Given the description of an element on the screen output the (x, y) to click on. 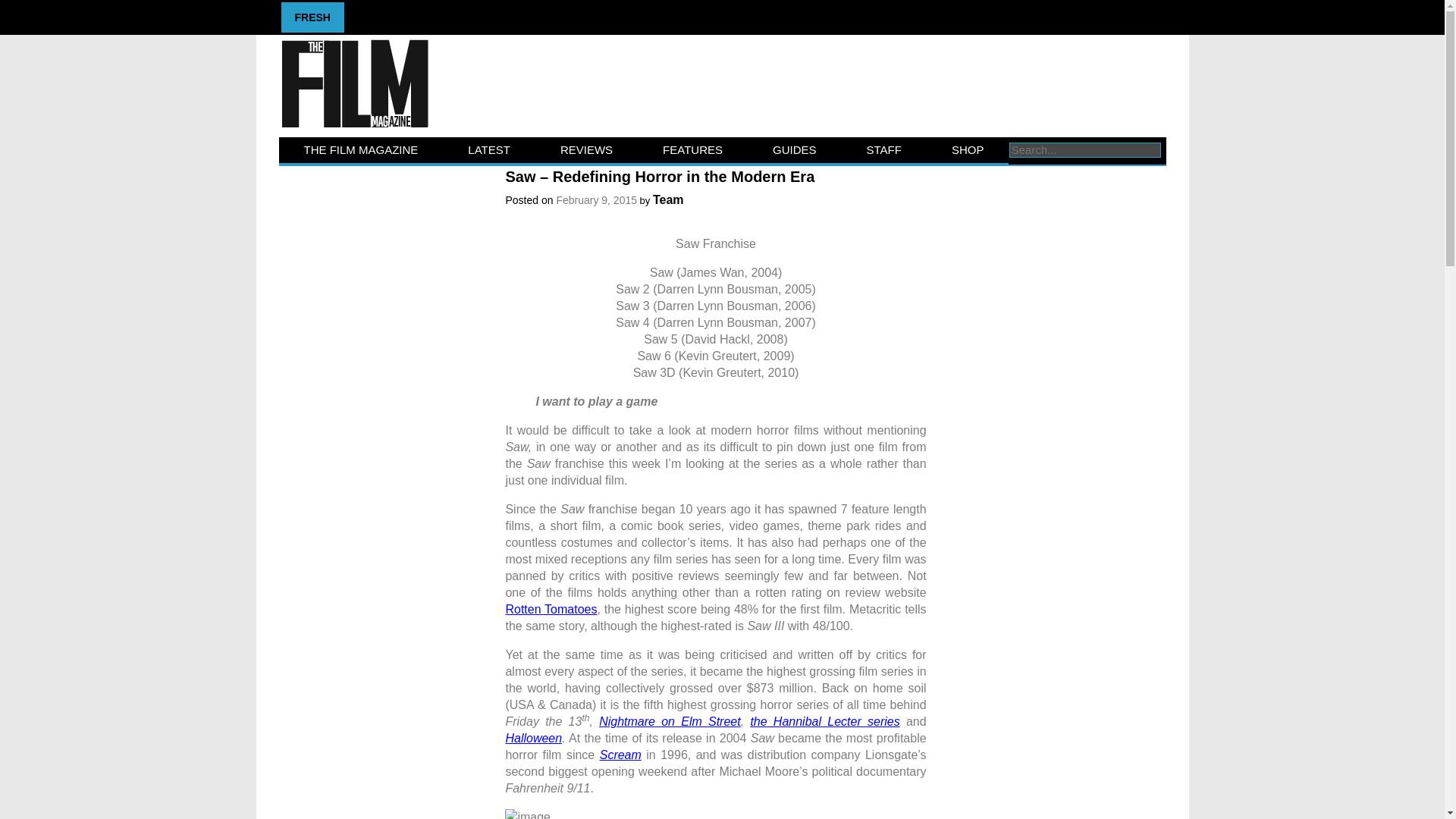
Rotten Tomatoes (550, 608)
Scream (620, 754)
Team (668, 199)
Halloween (533, 738)
GUIDES (794, 149)
THE FILM MAGAZINE (361, 149)
STAFF (883, 149)
FEATURES (692, 149)
LATEST (488, 149)
REVIEWS (586, 149)
